Given the description of an element on the screen output the (x, y) to click on. 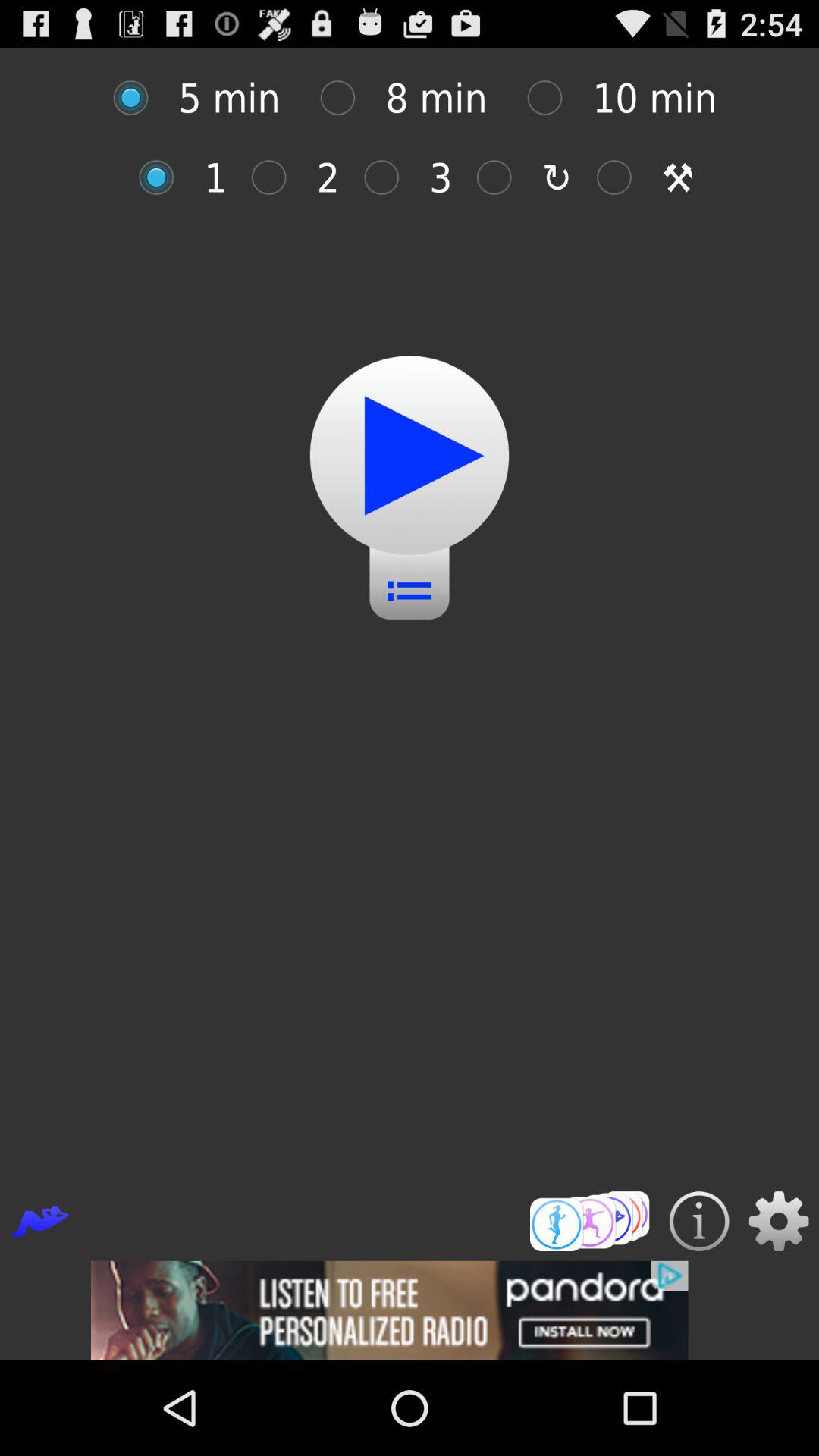
opens an advertisement (409, 1310)
